Given the description of an element on the screen output the (x, y) to click on. 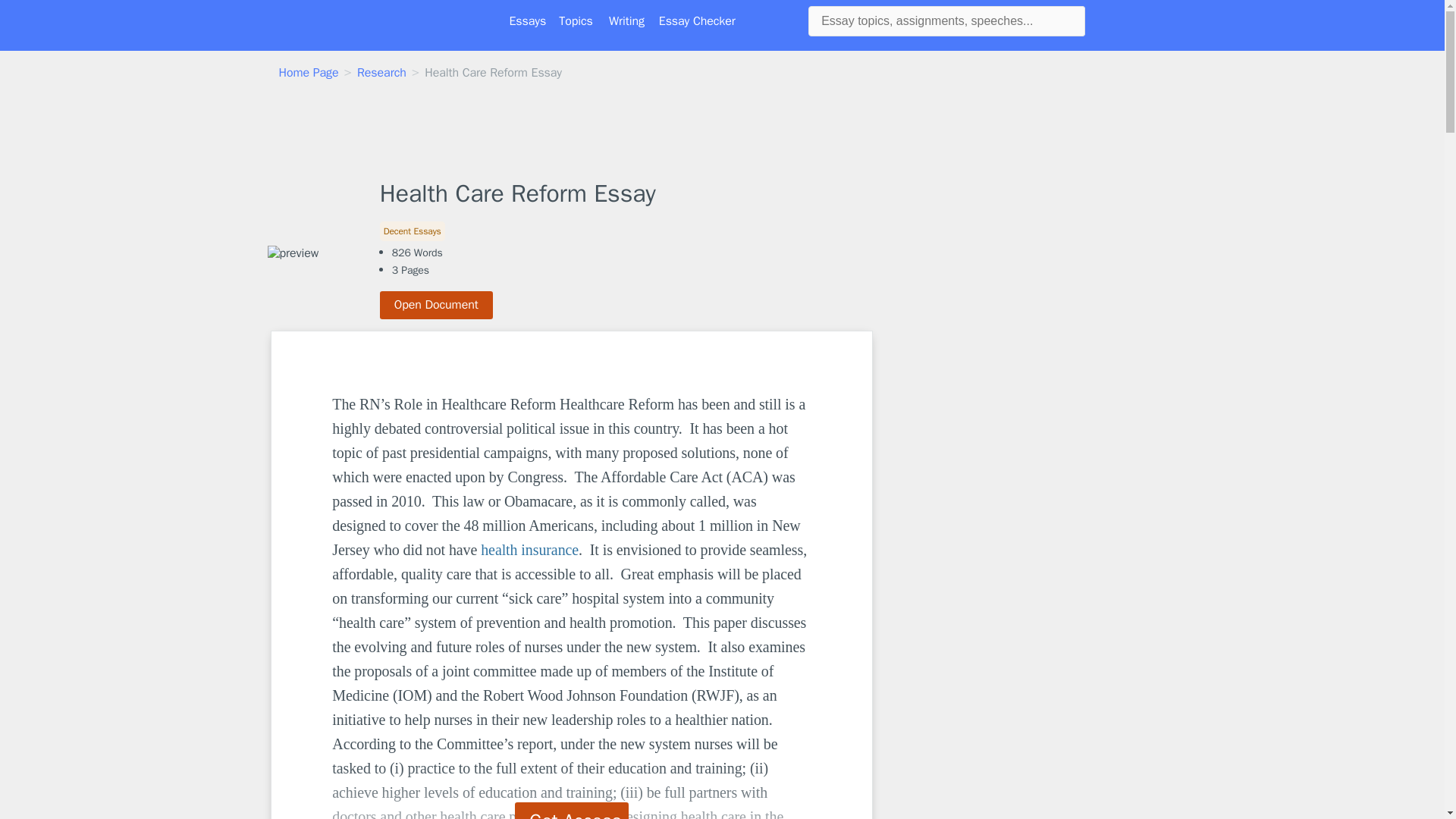
Writing (626, 20)
Topics (575, 20)
Research (381, 72)
Get Access (571, 810)
health insurance (529, 549)
Essays (528, 20)
Essay Checker (697, 20)
Open Document (436, 305)
Home Page (309, 72)
